Given the description of an element on the screen output the (x, y) to click on. 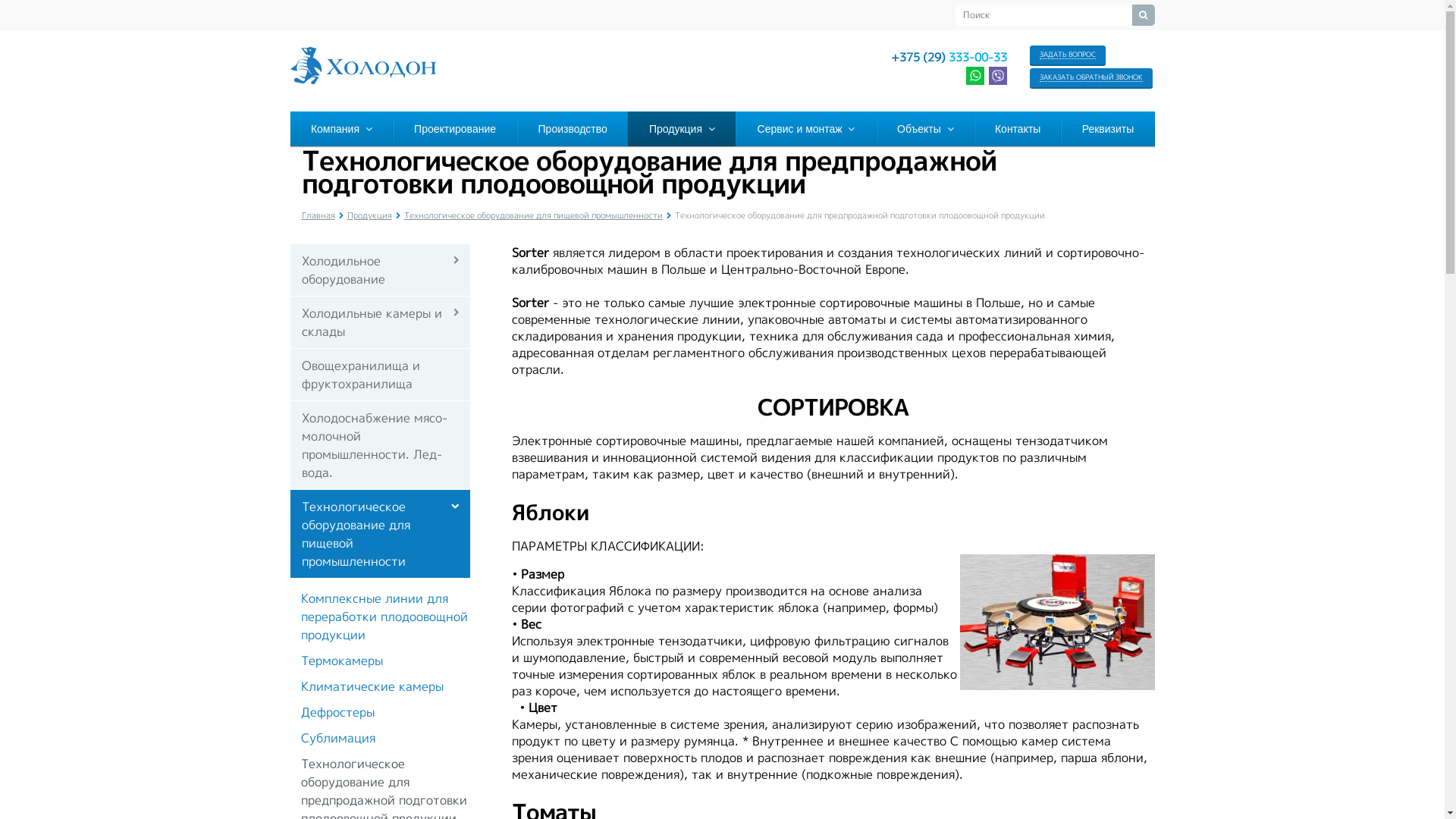
sorter_6.jpg Element type: hover (1057, 622)
whatsapp Element type: text (975, 75)
viber Element type: text (997, 75)
